Given the description of an element on the screen output the (x, y) to click on. 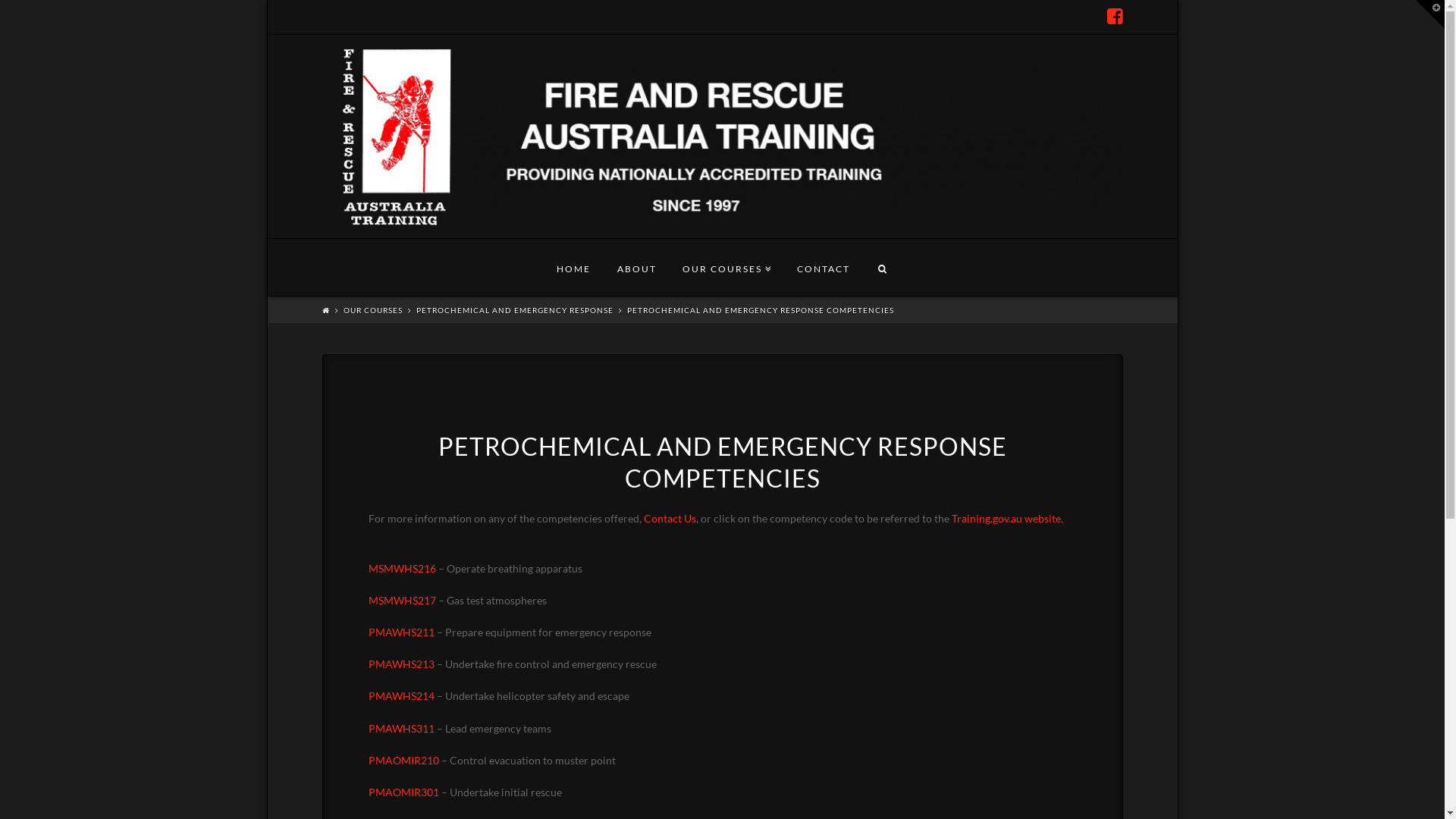
PETROCHEMICAL AND EMERGENCY RESPONSE Element type: text (513, 309)
PMAWHS214 Element type: text (401, 695)
Training.gov.au website. Element type: text (1006, 517)
PMAOMIR301 Element type: text (403, 791)
ABOUT Element type: text (635, 266)
Contact Us Element type: text (669, 517)
OUR COURSES Element type: text (726, 266)
Facebook Element type: hover (1115, 16)
HOME Element type: text (573, 266)
PMAWHS213 Element type: text (401, 663)
PMAWHS311 Element type: text (401, 727)
CONTACT Element type: text (823, 266)
PMAWHS211 Element type: text (401, 631)
Emergency Response Training Element type: hover (721, 136)
OUR COURSES Element type: text (371, 309)
MSMWHS216 Element type: text (402, 577)
MSMWHS217 Element type: text (402, 599)
Toggle the Widgetbar Element type: text (1429, 14)
PMAOMIR210 Element type: text (403, 759)
